Given the description of an element on the screen output the (x, y) to click on. 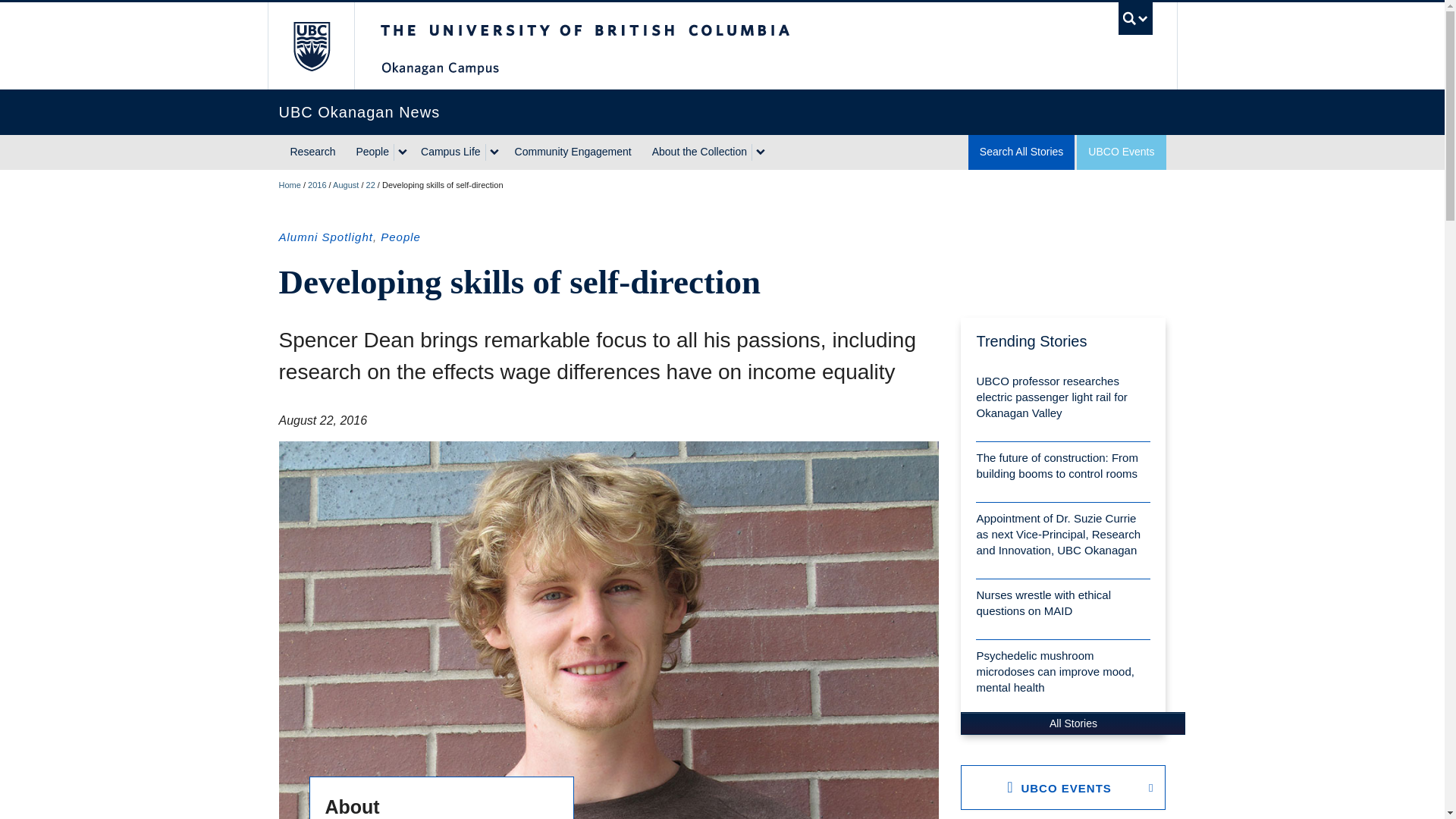
UBCO Events (1121, 151)
Research (313, 151)
Search All Stories (1021, 151)
UBC Okanagan News (290, 184)
August 22, 2016 (370, 184)
August 2016 (345, 184)
2016 (316, 184)
The University of British Columbia (635, 45)
UBC Okanagan News (722, 112)
Community Engagement (573, 151)
About the Collection (697, 151)
The University of British Columbia (309, 45)
Events (1121, 151)
Home (290, 184)
2016 (316, 184)
